Given the description of an element on the screen output the (x, y) to click on. 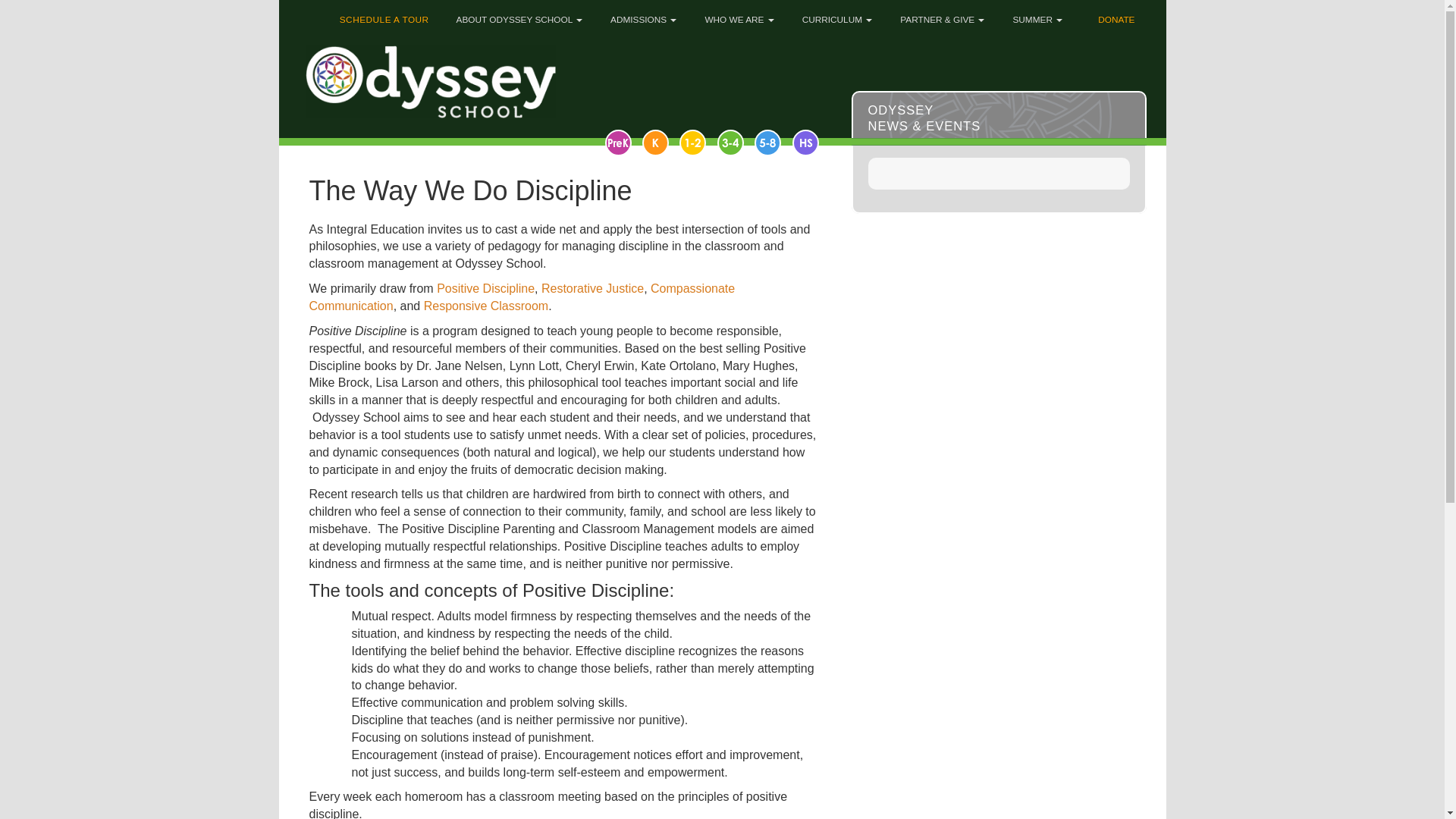
SCHEDULE A TOUR (379, 15)
WHO WE ARE (737, 15)
ABOUT ODYSSEY SCHOOL (517, 15)
About Odyssey School (517, 15)
CURRICULUM (835, 15)
Schedule a Tour (379, 15)
ADMISSIONS (641, 15)
